Given the description of an element on the screen output the (x, y) to click on. 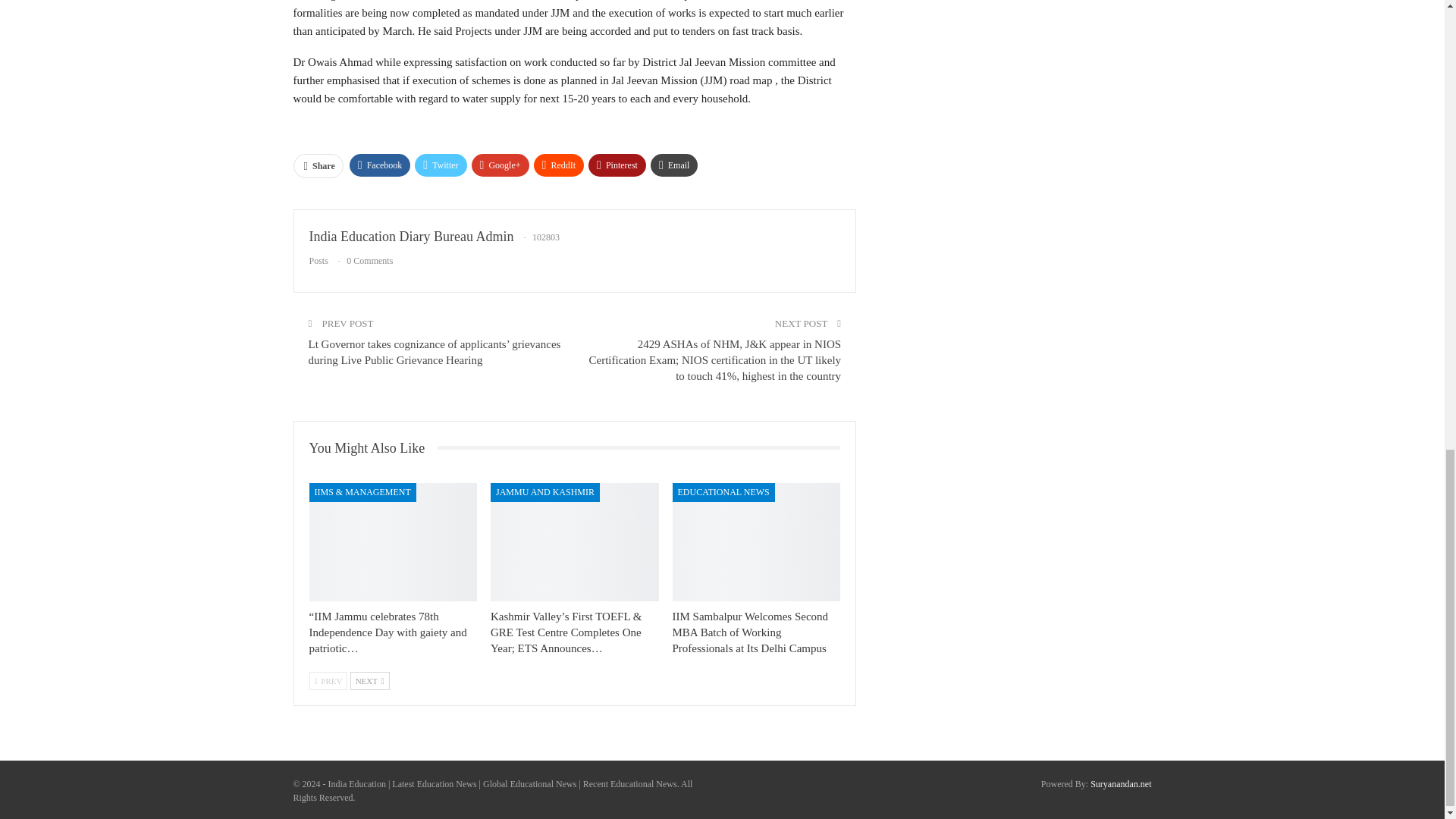
Previous (327, 680)
Next (370, 680)
